Given the description of an element on the screen output the (x, y) to click on. 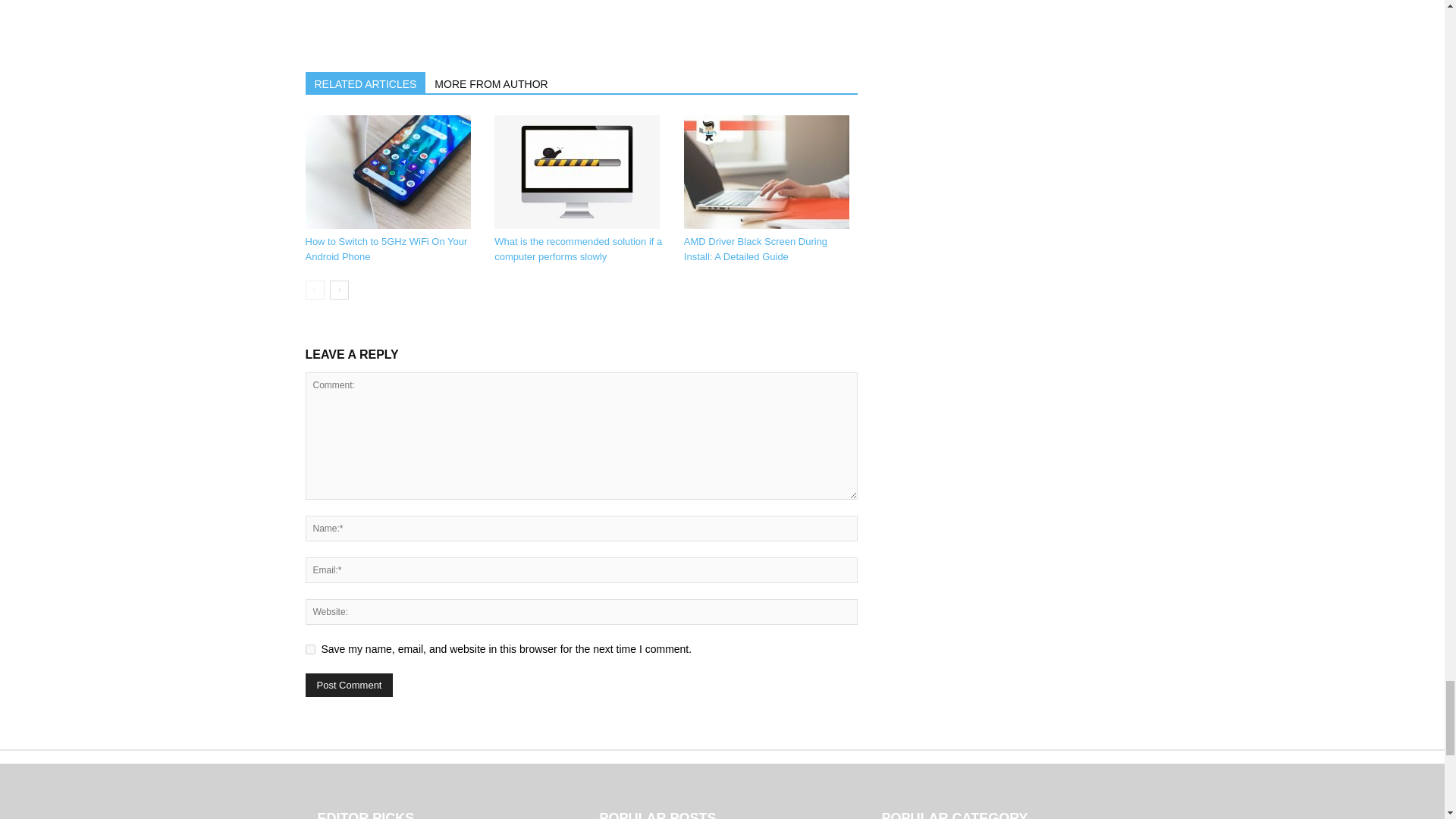
yes (309, 649)
Post Comment (348, 684)
How to Switch to 5GHz WiFi On Your Android Phone (387, 172)
How to Switch to 5GHz WiFi On Your Android Phone (391, 172)
How to Switch to 5GHz WiFi On Your Android Phone (385, 248)
